Given the description of an element on the screen output the (x, y) to click on. 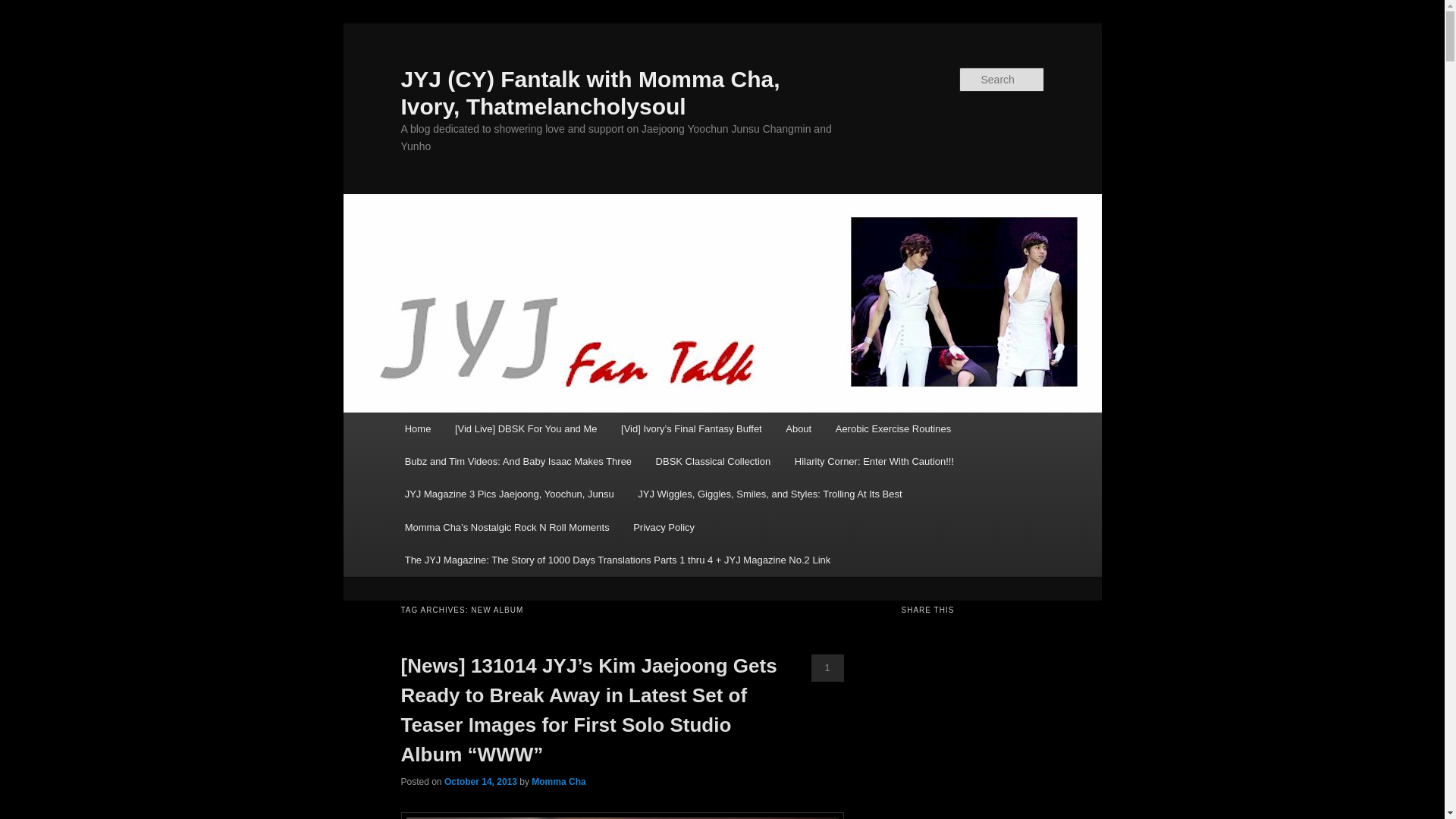
1:25 pm (480, 781)
Bubz and Tim Videos: And Baby Isaac Makes Three (518, 461)
1 (827, 667)
JYJ Magazine 3 Pics Jaejoong, Yoochun, Junsu (509, 493)
Search (24, 8)
October 14, 2013 (480, 781)
Aerobic Exercise Routines (893, 428)
Home (417, 428)
Momma Cha (558, 781)
Hilarity Corner: Enter With Caution!!! (874, 461)
DBSK Classical Collection (713, 461)
Privacy Policy (663, 527)
About (797, 428)
